Given the description of an element on the screen output the (x, y) to click on. 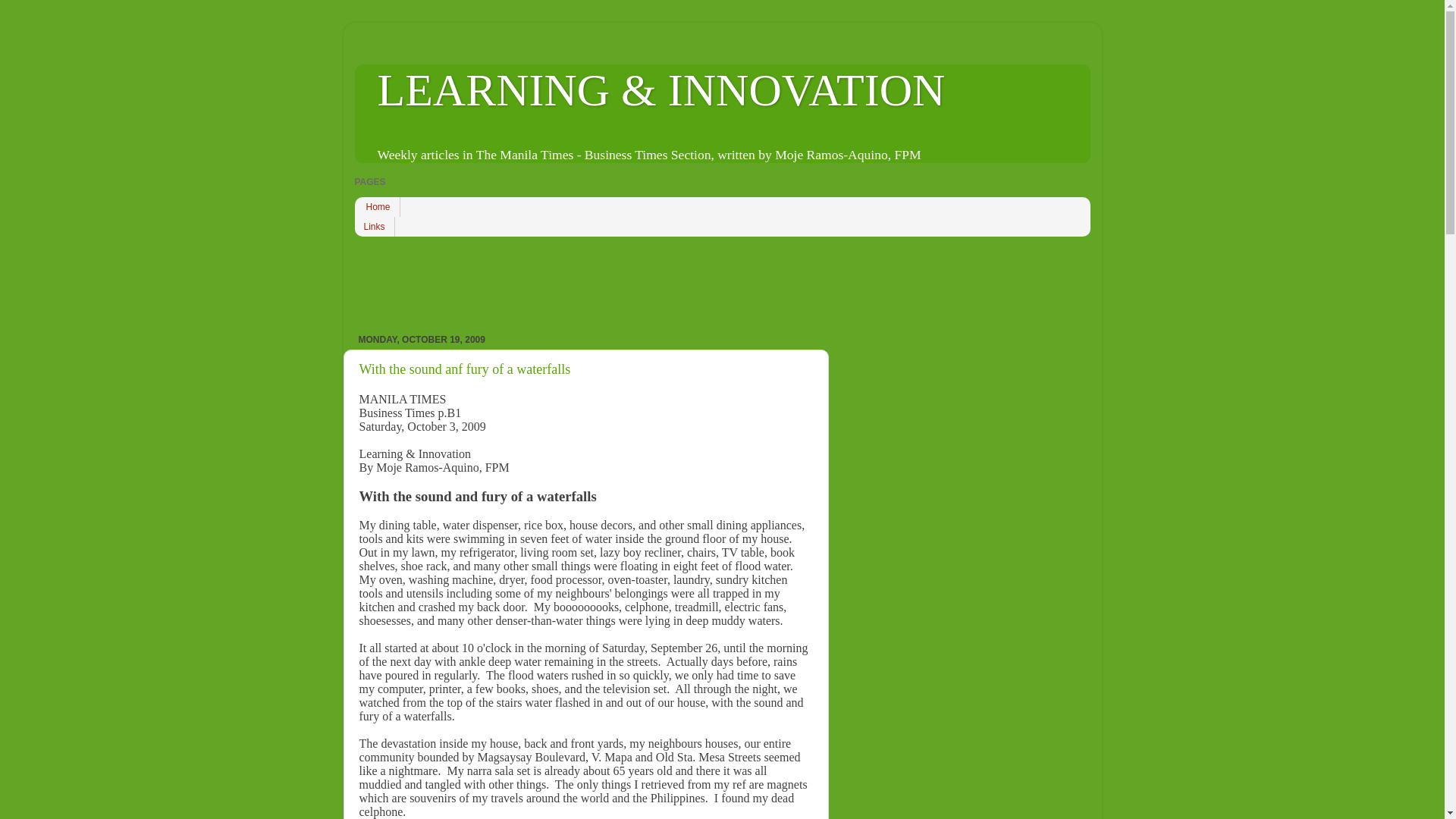
Home (377, 207)
With the sound anf fury of a waterfalls (464, 368)
Links (374, 226)
Advertisement (631, 281)
